Given the description of an element on the screen output the (x, y) to click on. 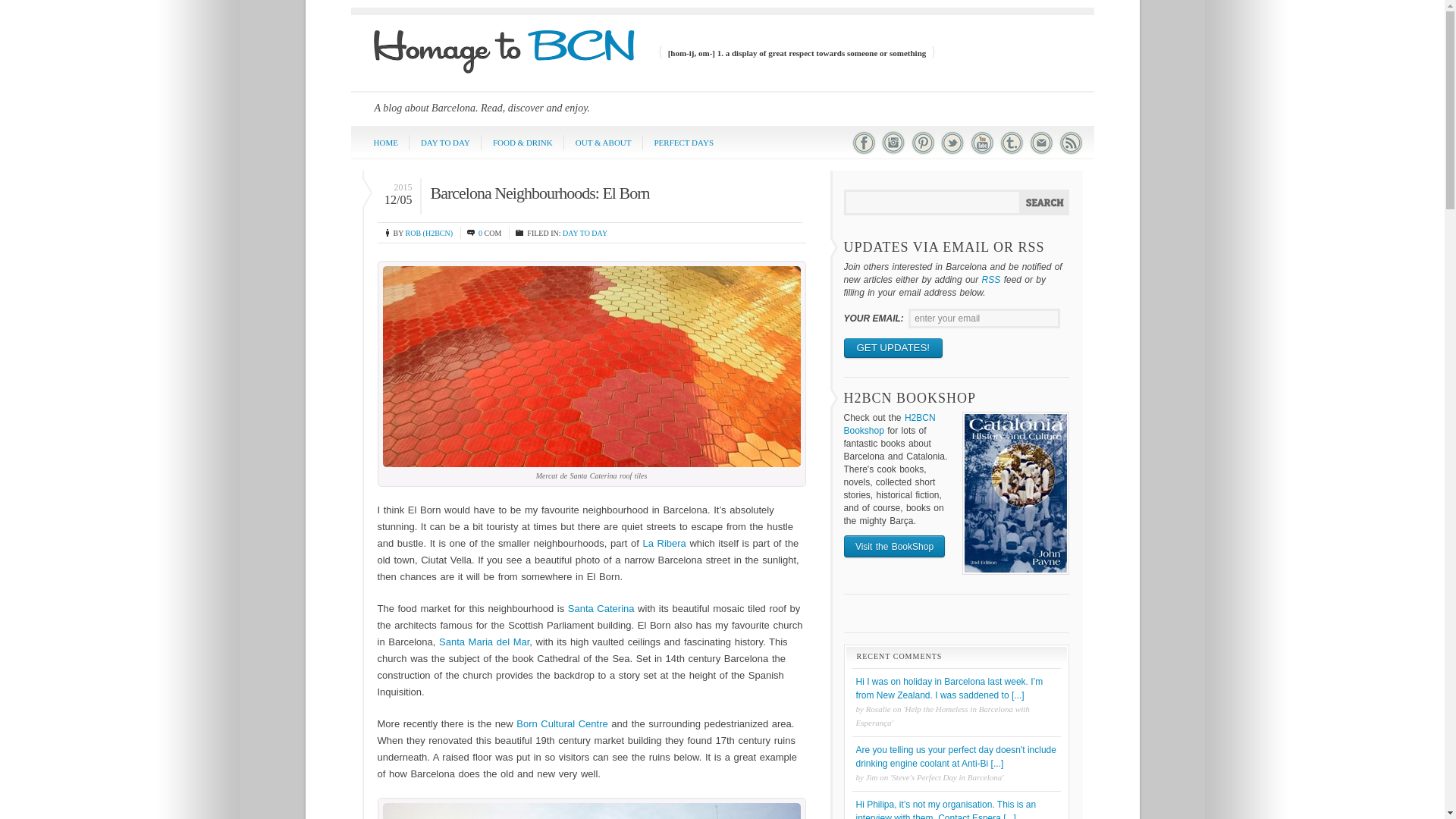
Santa Maria del Mar (484, 641)
Email Rob at H2BCN (1039, 151)
Follow H2BCN on Twitter (951, 151)
Santa Caterina (600, 608)
Home (502, 60)
Read H2BCN via RSS (1070, 151)
GET UPDATES! (892, 347)
El Born Centre Cultural (590, 811)
PERFECT DAYS (684, 142)
La Ribera (663, 542)
